Given the description of an element on the screen output the (x, y) to click on. 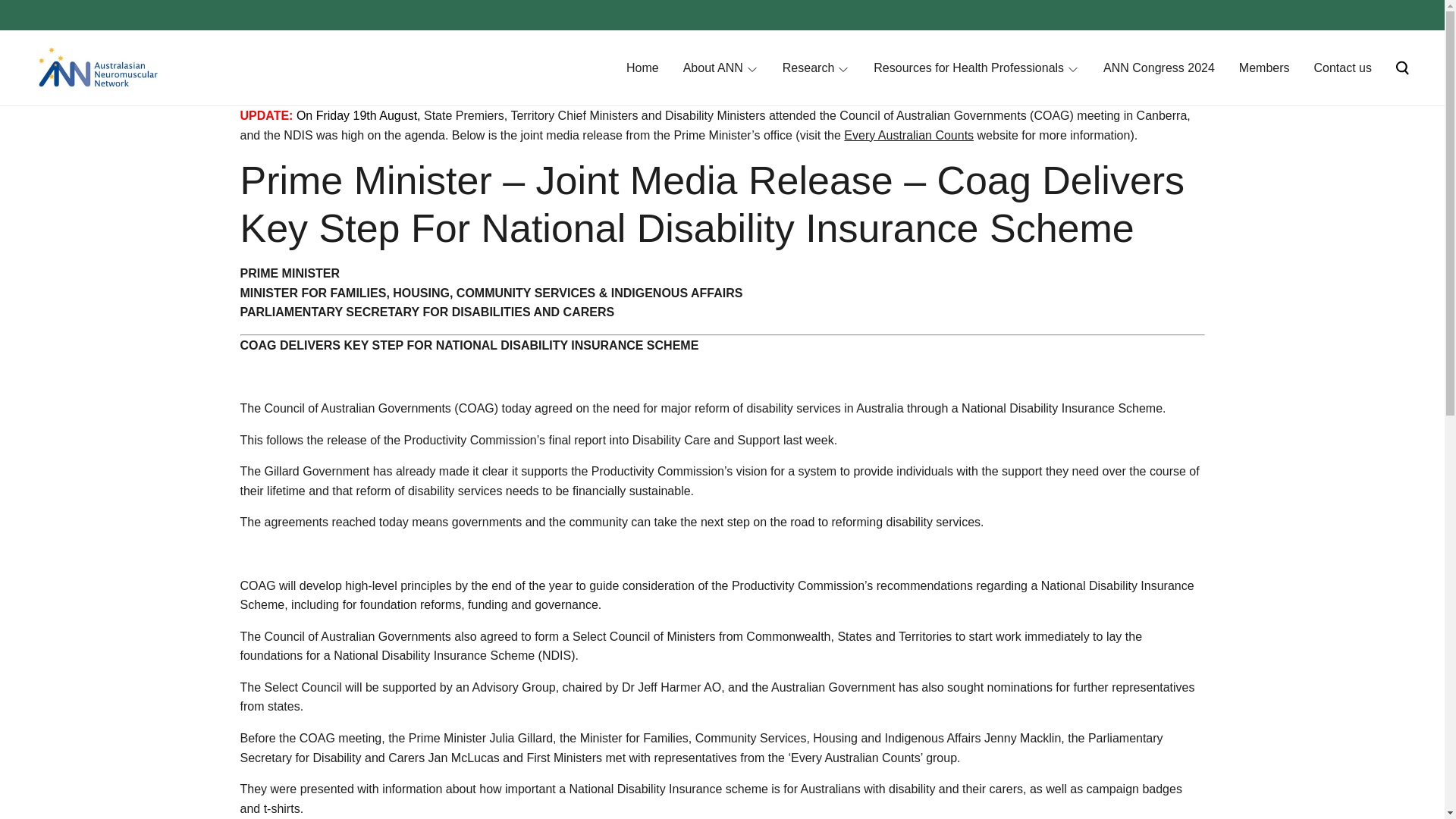
Research (808, 67)
Home (642, 67)
About ANN (712, 67)
Resources for Health Professionals (968, 67)
